Given the description of an element on the screen output the (x, y) to click on. 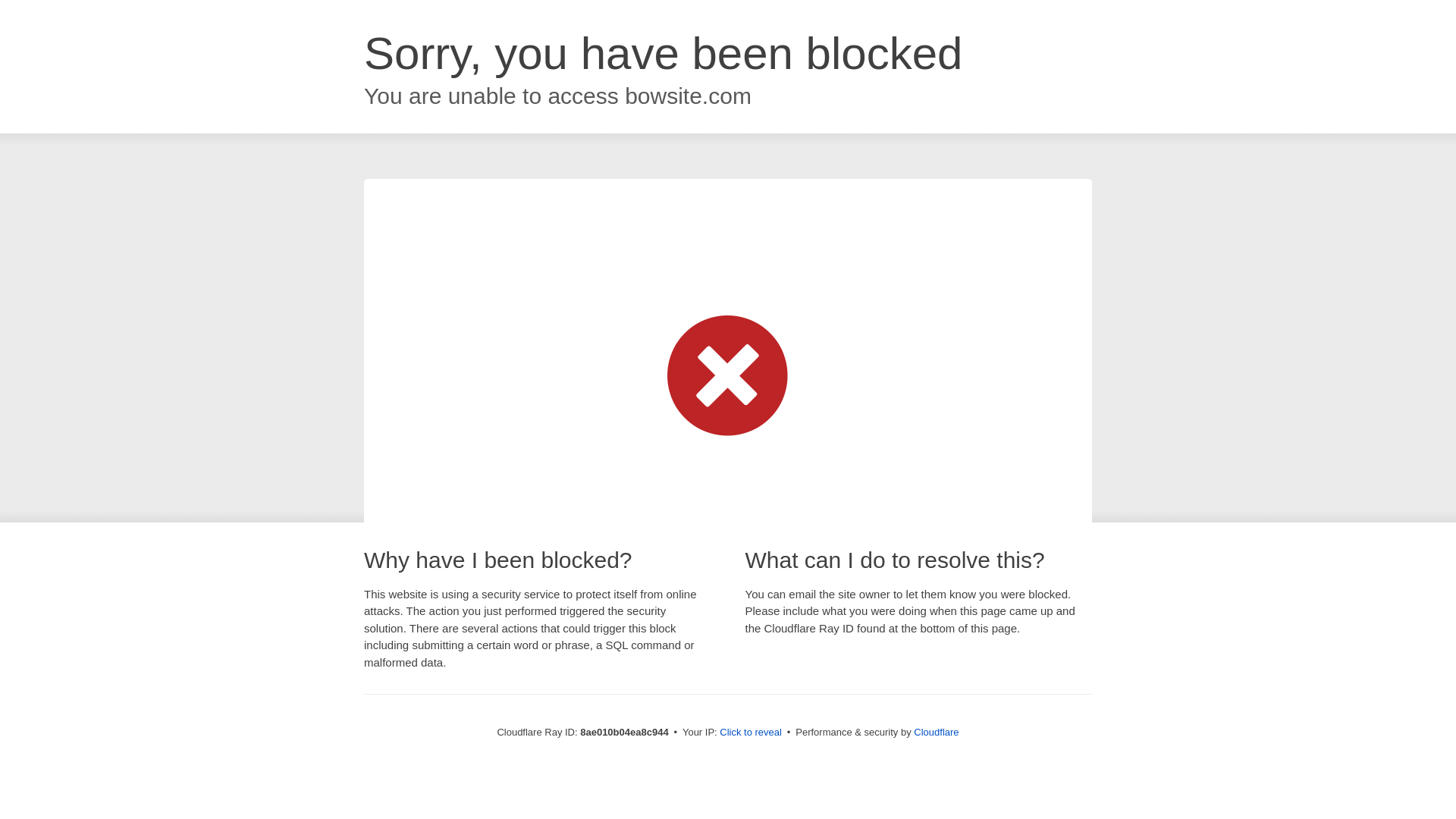
Cloudflare (936, 731)
Click to reveal (750, 732)
